Given the description of an element on the screen output the (x, y) to click on. 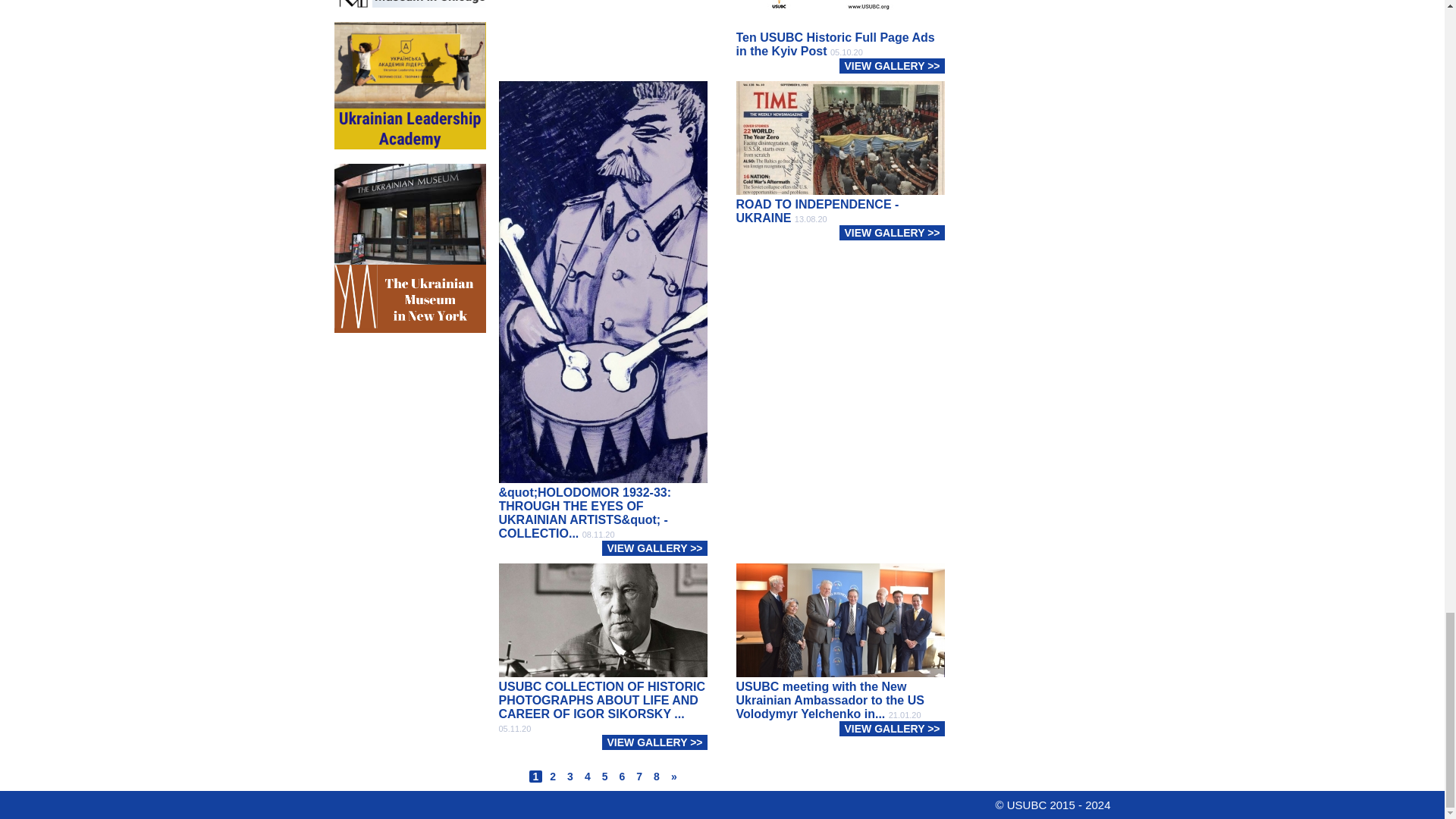
Ukrainian Leadership Academy (408, 226)
David Sharashidze Artwork Catalogue (408, 6)
Ukrainian National Museum in Chicago (408, 85)
